Given the description of an element on the screen output the (x, y) to click on. 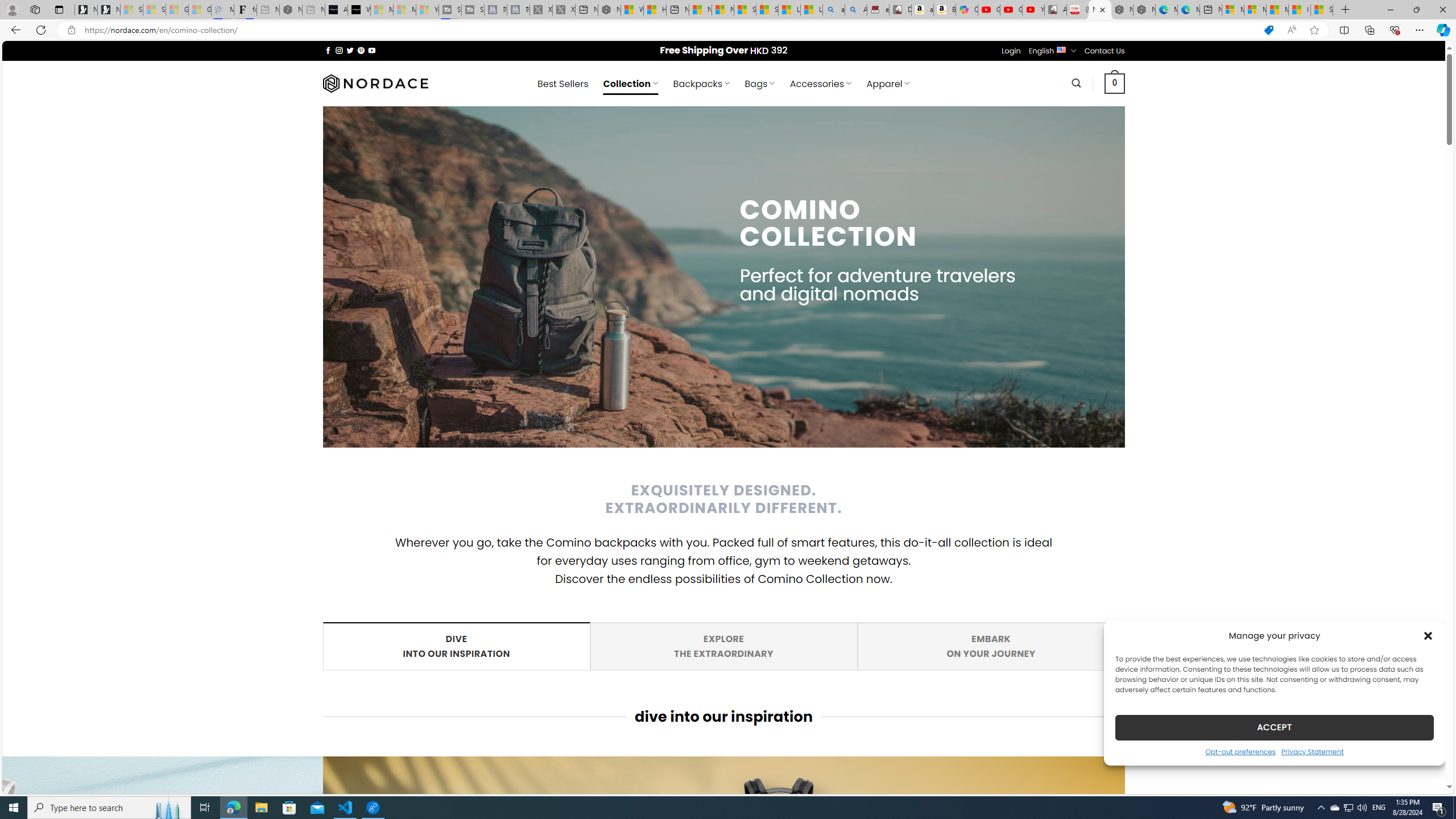
 0  (1115, 83)
Newsletter Sign Up (109, 9)
Follow on Instagram (338, 49)
Huge shark washes ashore at New York City beach | Watch (655, 9)
Class: cmplz-close (1428, 635)
Follow on YouTube (371, 49)
Contact Us (1104, 50)
Nordace - Comino Collection (1099, 9)
